Given the description of an element on the screen output the (x, y) to click on. 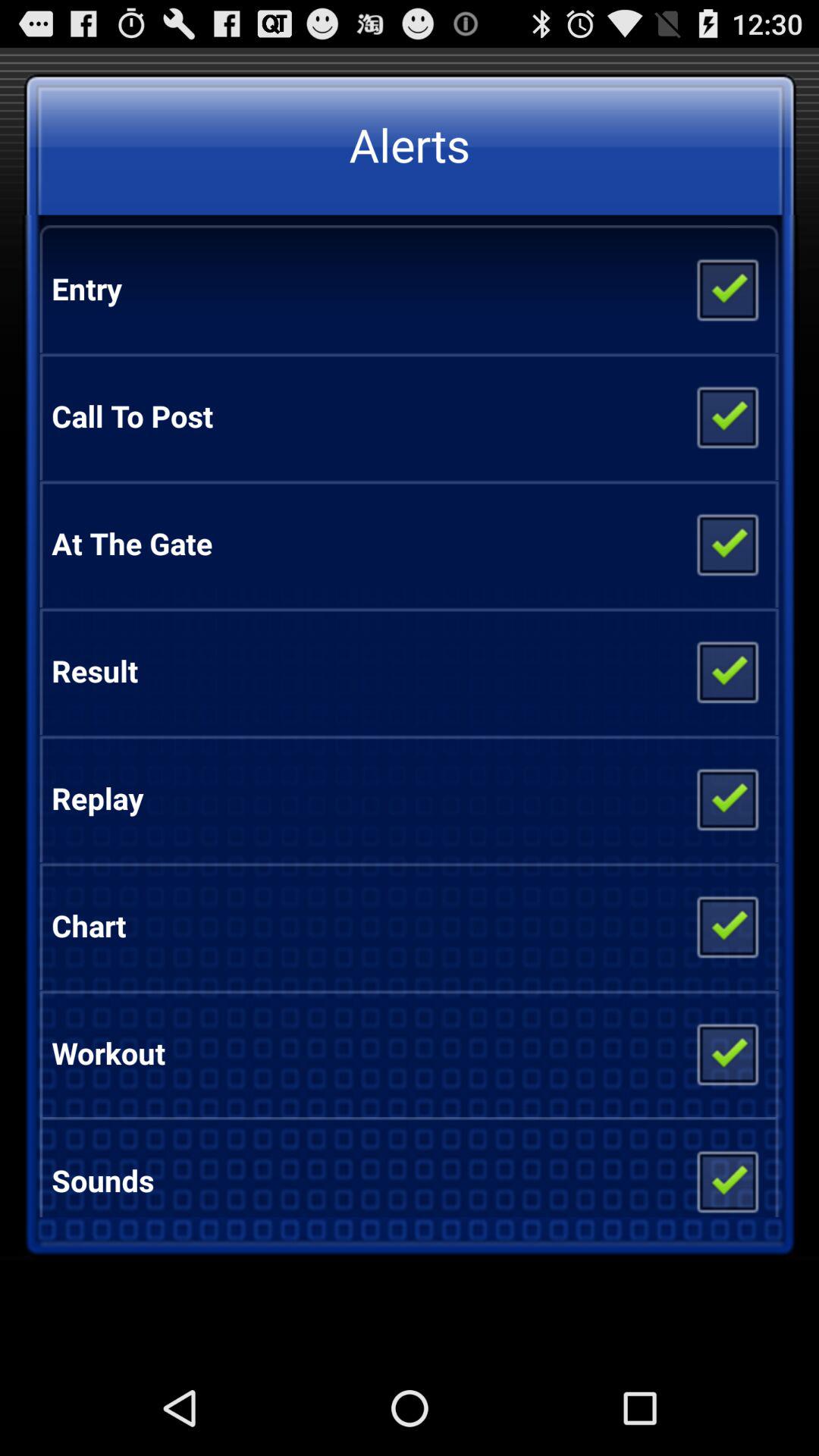
select option (726, 543)
